Given the description of an element on the screen output the (x, y) to click on. 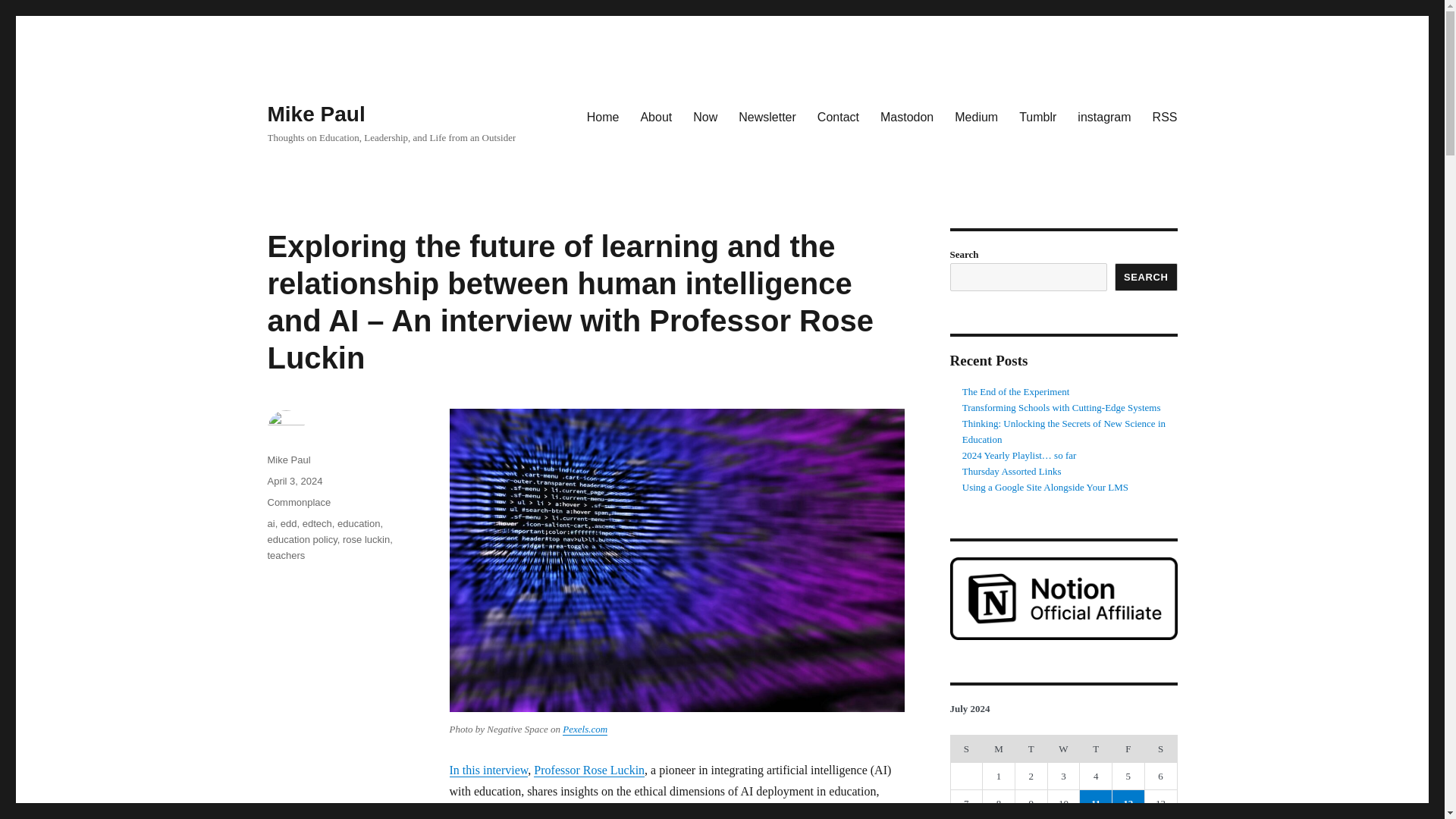
Newsletter (767, 116)
Thursday (1096, 748)
Mastodon (906, 116)
Professor Rose Luckin (589, 769)
Now (705, 116)
About (655, 116)
Mike Paul (315, 114)
Home (603, 116)
Tuesday (1030, 748)
Monday (998, 748)
Friday (1128, 748)
Pexels.com (584, 728)
April 3, 2024 (293, 480)
Saturday (1160, 748)
RSS (1164, 116)
